Given the description of an element on the screen output the (x, y) to click on. 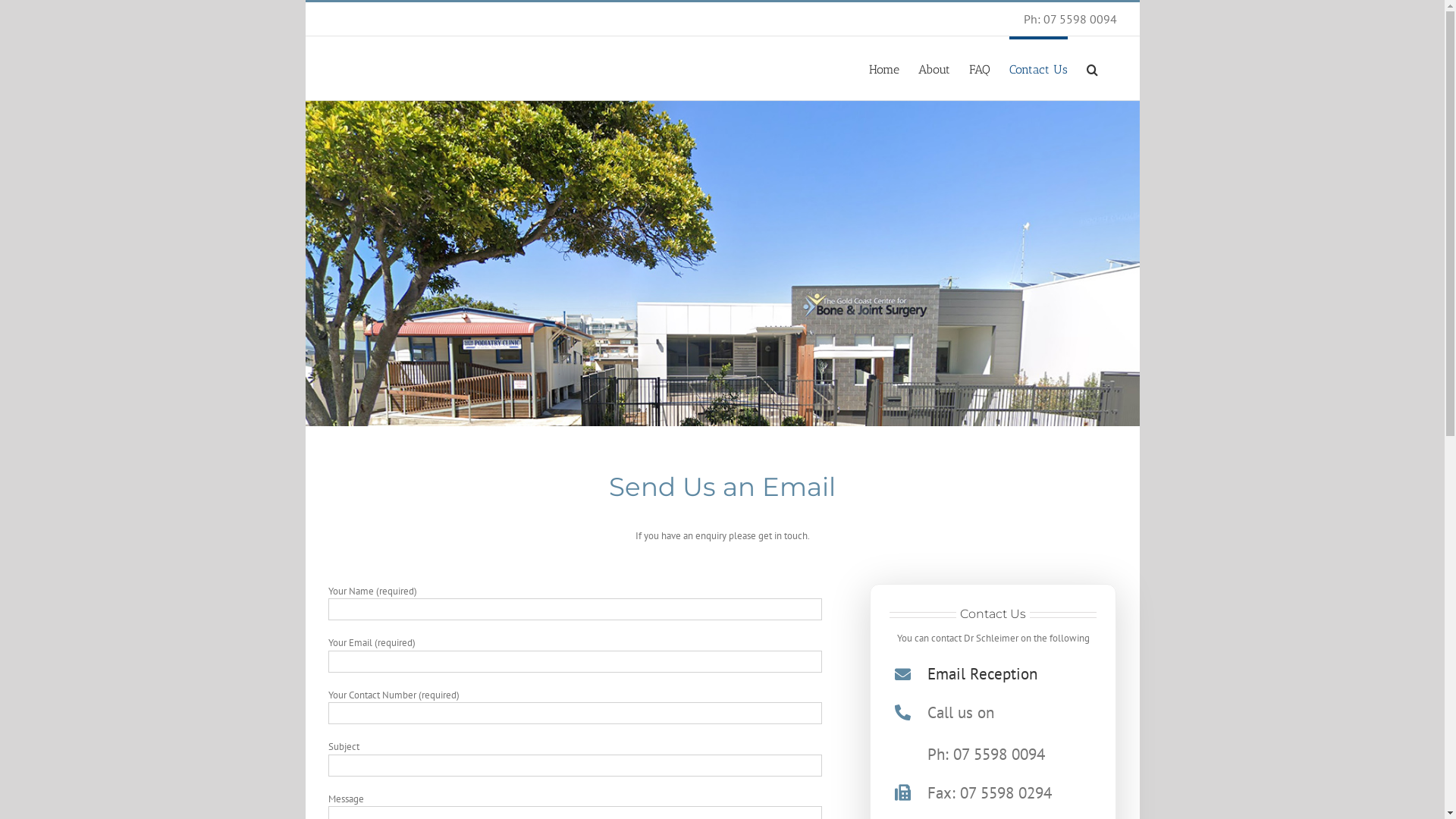
Search Element type: hover (1091, 68)
About Element type: text (933, 68)
Home Element type: text (884, 68)
FAQ Element type: text (979, 68)
Contact Us Element type: text (1037, 68)
Email Reception Element type: text (982, 673)
07 5598 0094 Element type: text (1080, 18)
